Given the description of an element on the screen output the (x, y) to click on. 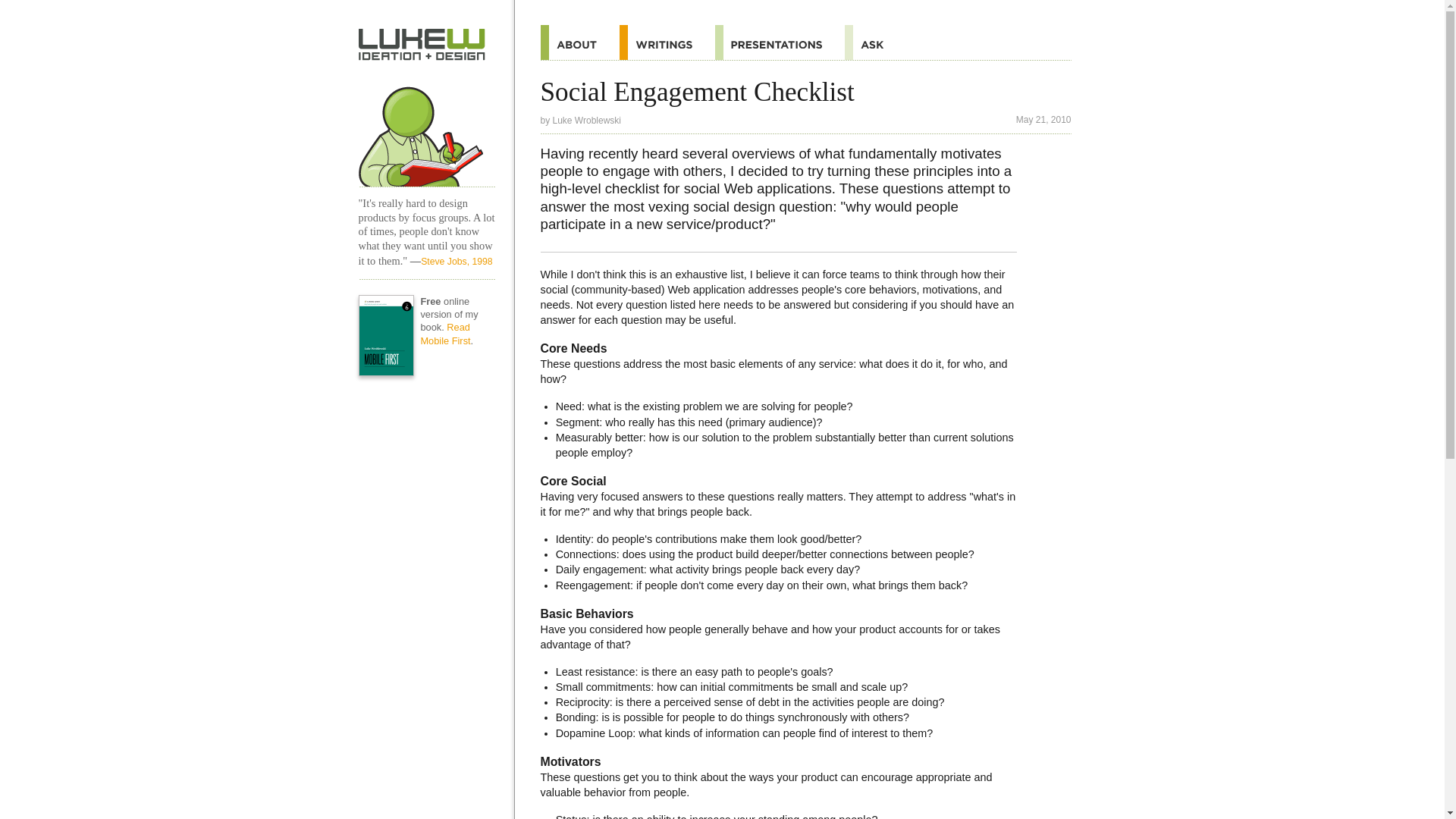
Luke Wroblewski (587, 120)
Home (421, 44)
Steve Jobs, 1998 (456, 261)
Read Mobile First (445, 333)
Ask (874, 42)
Quotes (666, 42)
About (579, 42)
Home (426, 129)
Presentations (779, 42)
